Given the description of an element on the screen output the (x, y) to click on. 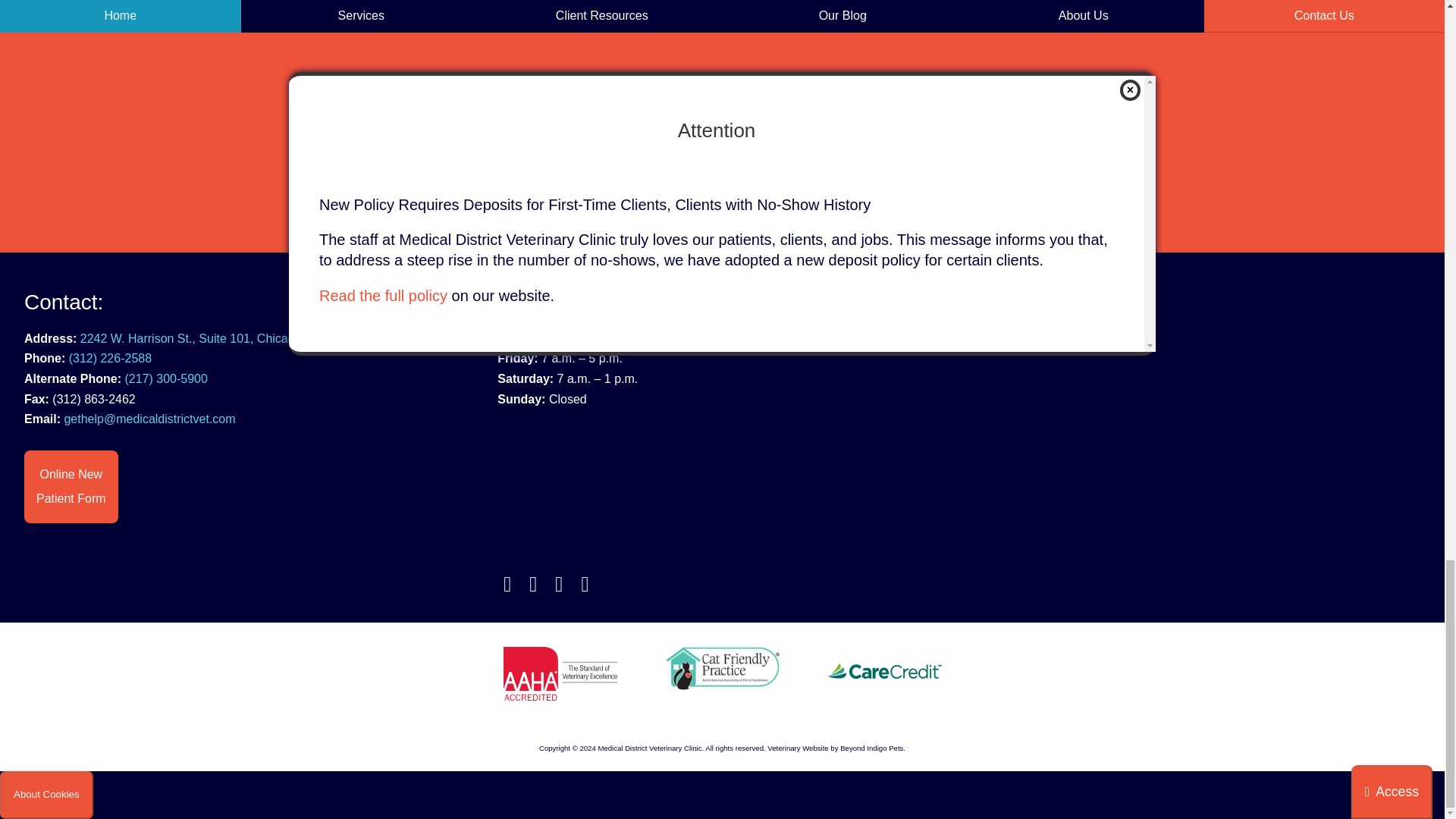
Cat Friendly Practice Logo (721, 668)
Illinois Veterinary Google Map (1196, 463)
AAHA Logo (560, 674)
Beyond Indigo Pets (797, 747)
Care Credit Logo (885, 670)
